Given the description of an element on the screen output the (x, y) to click on. 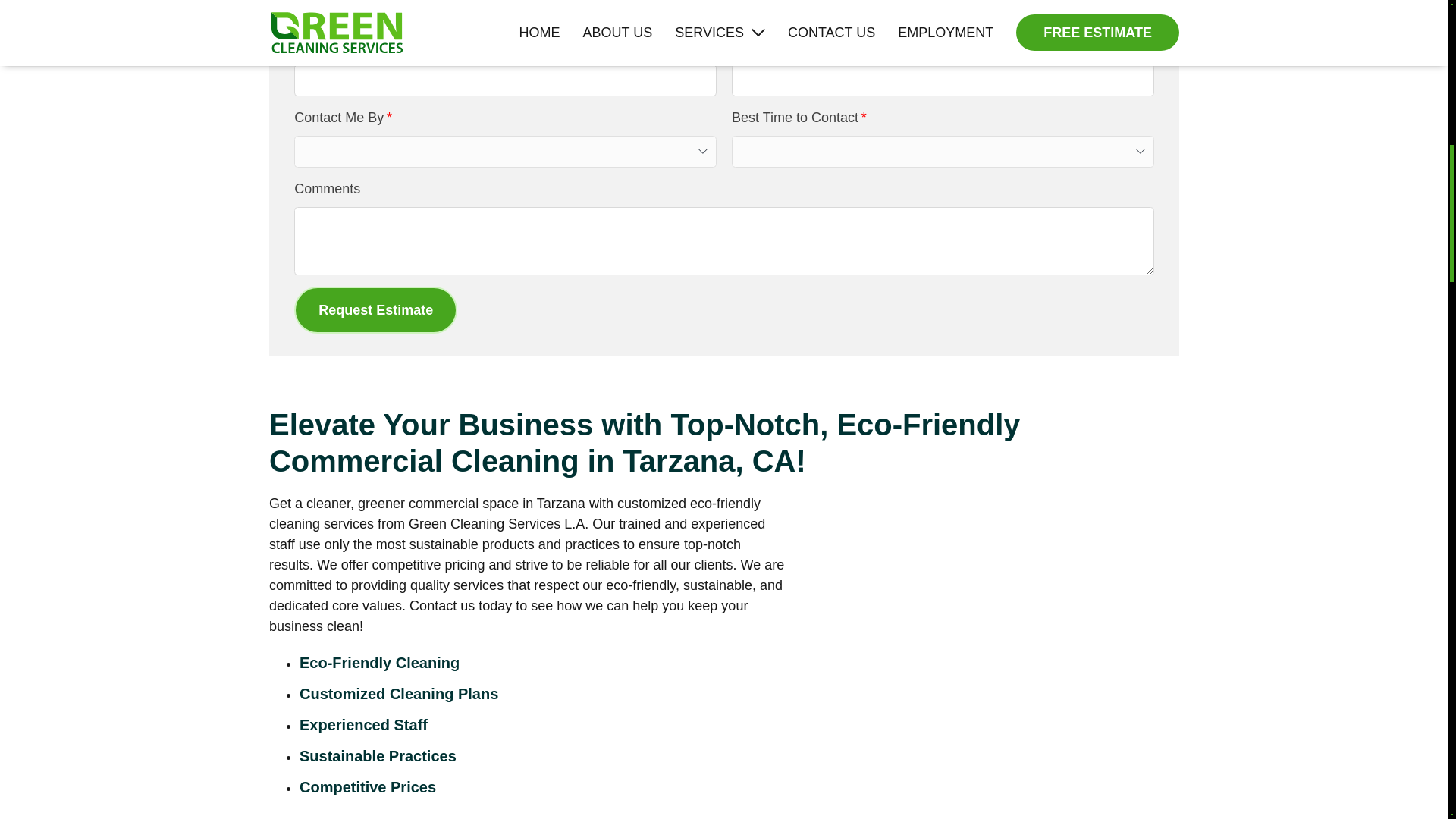
Request Estimate (375, 309)
